Given the description of an element on the screen output the (x, y) to click on. 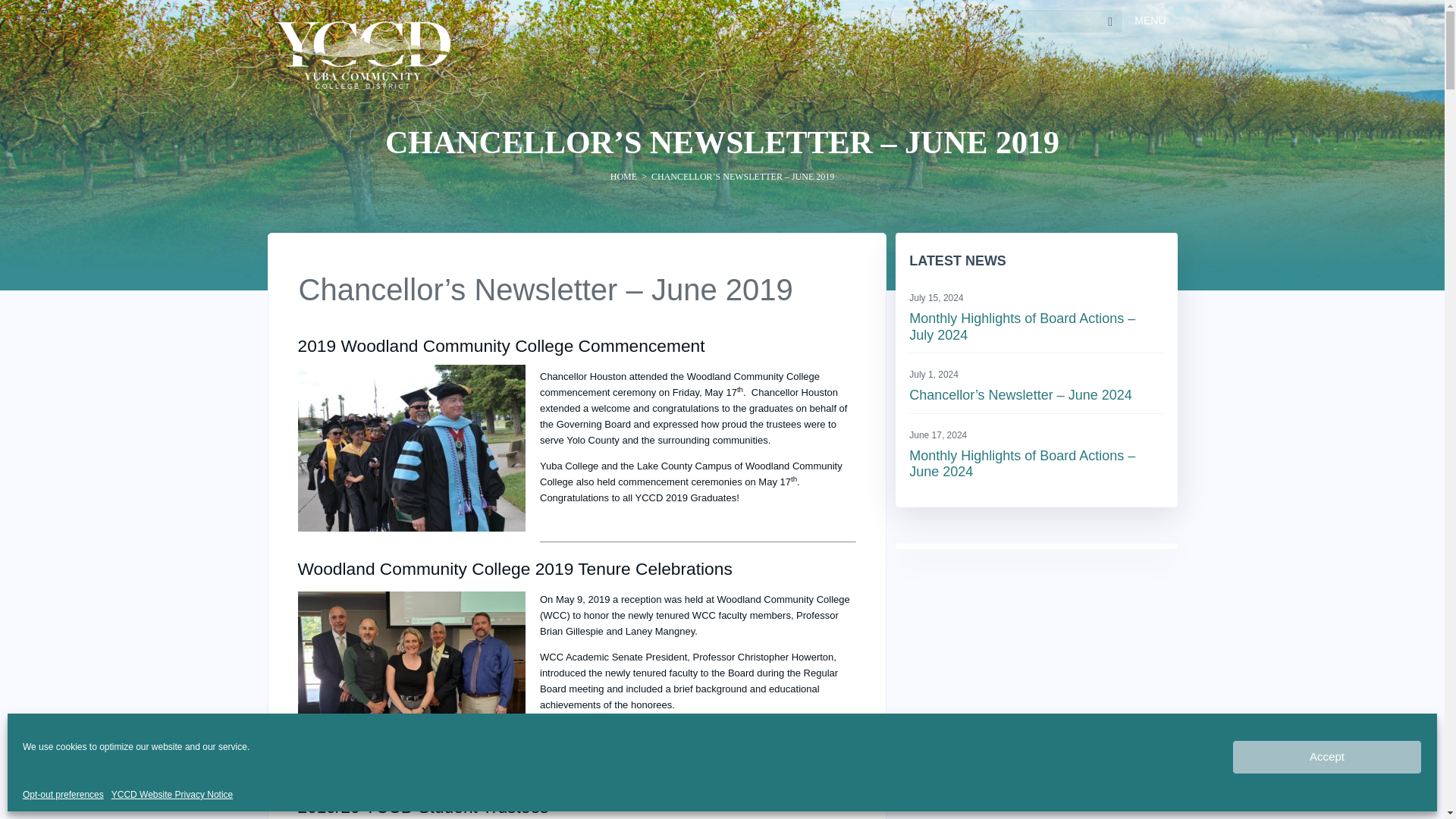
Opt-out preferences (63, 794)
YCCD Website Privacy Notice (172, 794)
Accept (1326, 756)
HOME (623, 176)
